Given the description of an element on the screen output the (x, y) to click on. 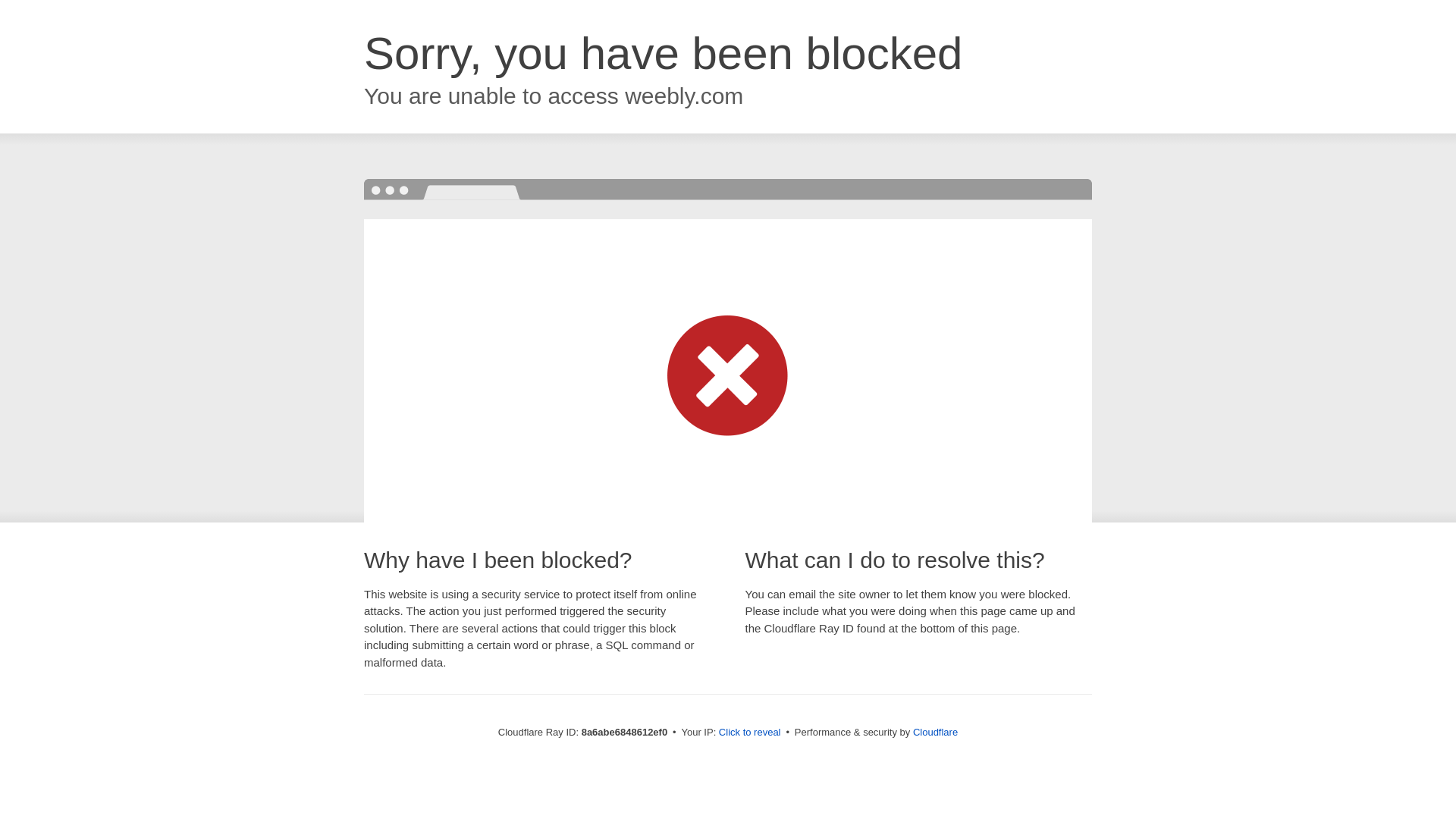
Click to reveal (749, 732)
Cloudflare (935, 731)
